Given the description of an element on the screen output the (x, y) to click on. 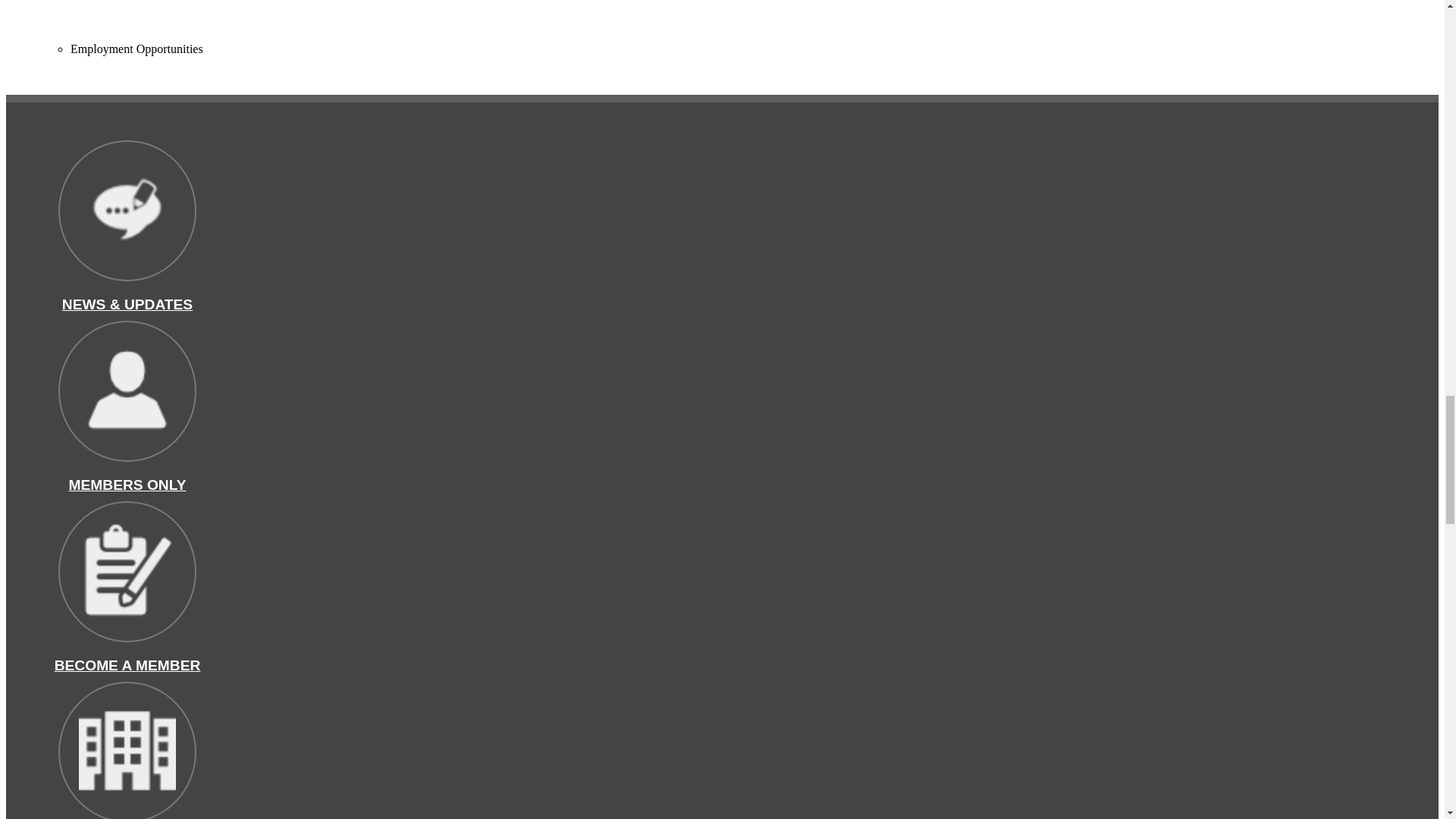
Employment Opportunities (136, 48)
MEMBERS ONLY (127, 484)
